Given the description of an element on the screen output the (x, y) to click on. 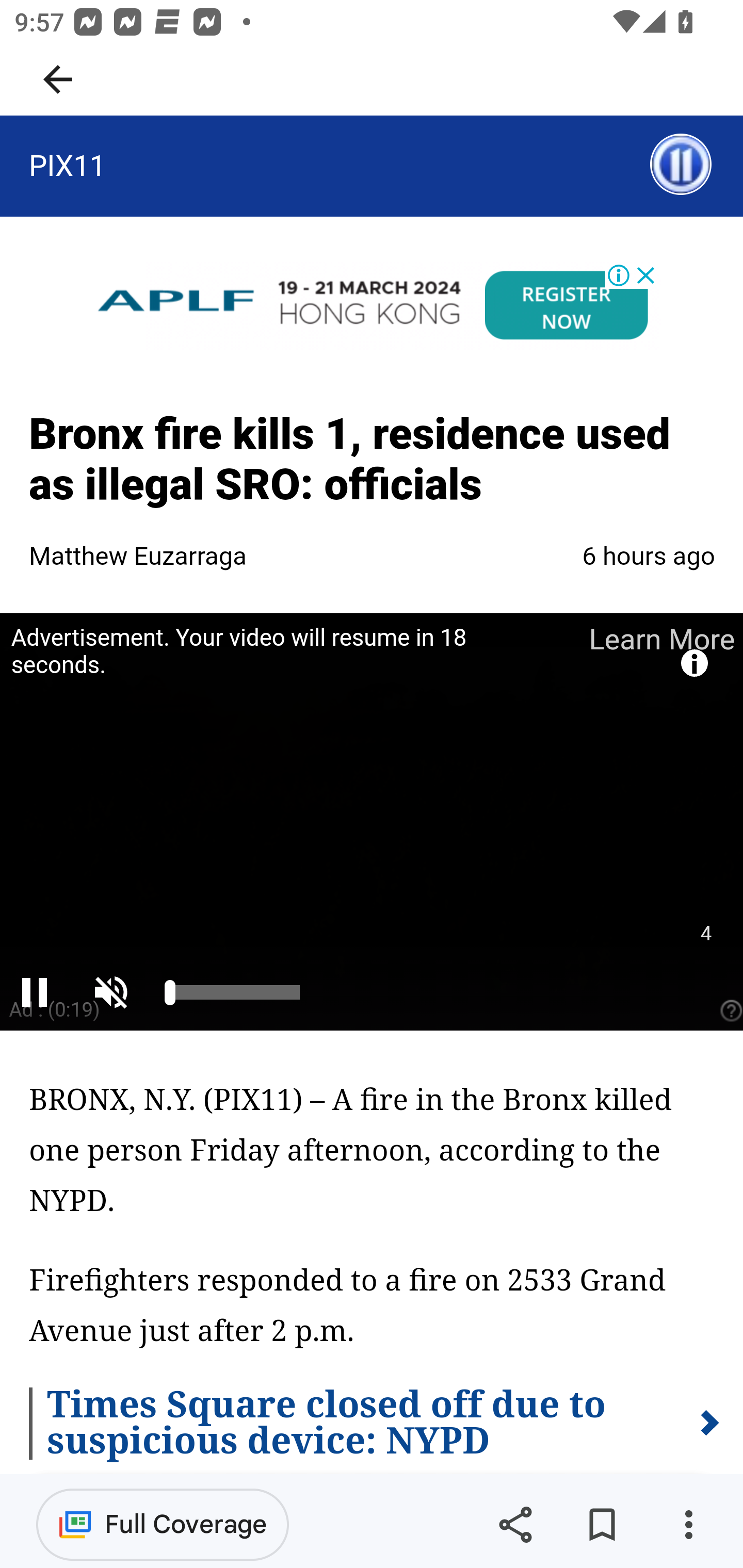
Navigate up (57, 79)
PIX11 cropped-WPIX_favicon-1 PIX11 (67, 165)
Learn More (660, 638)
Skip Ad Countdown (705, 933)
Play/pause the video (34, 991)
Adjust the volume (115, 991)
Ad : (0:19) (54, 1008)
help_outline_white_24dp_with_3px_trbl_padding (728, 1009)
Share (514, 1524)
Save for later (601, 1524)
More options (688, 1524)
Full Coverage (162, 1524)
